Given the description of an element on the screen output the (x, y) to click on. 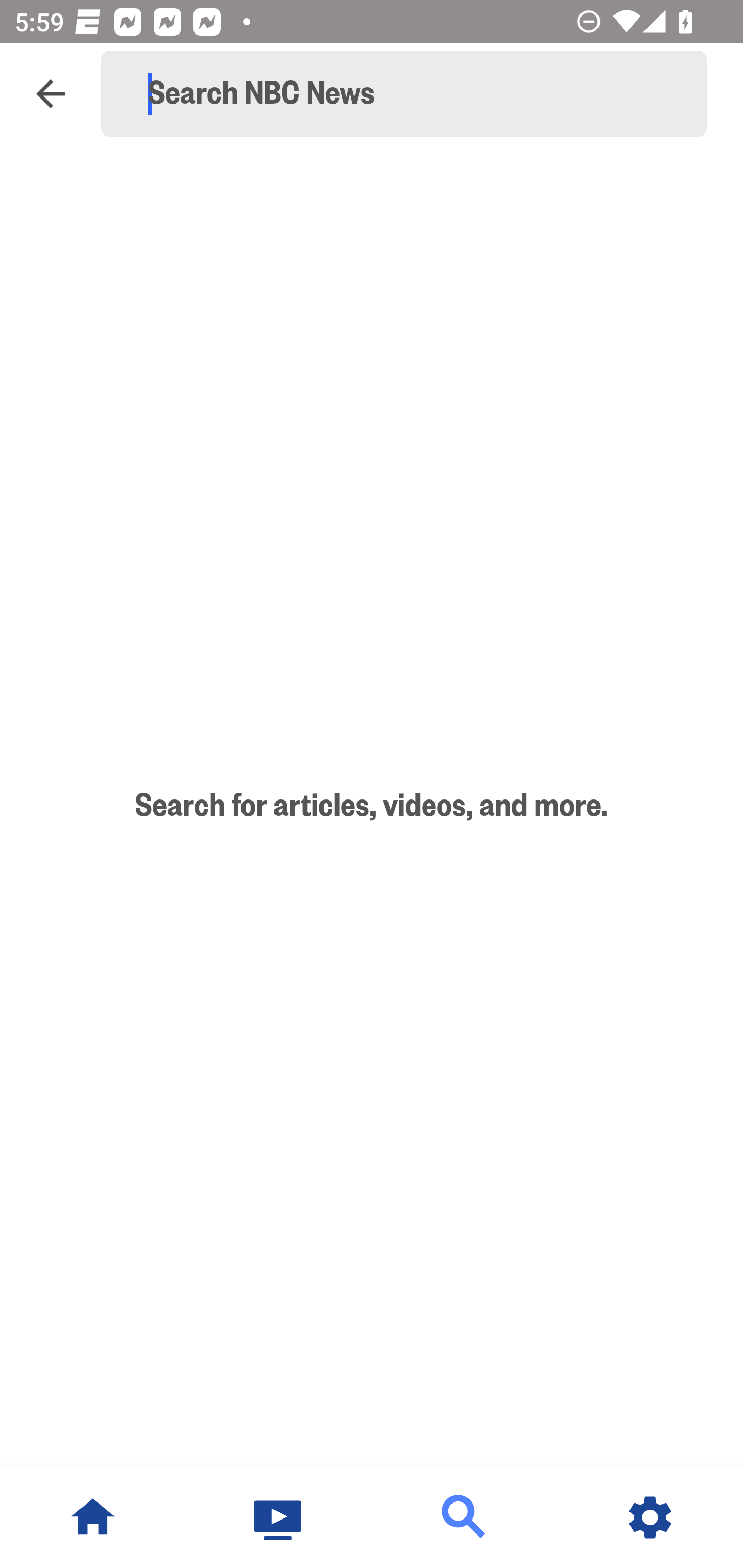
Navigate up (50, 93)
Search NBC News (412, 94)
NBC News Home (92, 1517)
Watch (278, 1517)
Settings (650, 1517)
